Given the description of an element on the screen output the (x, y) to click on. 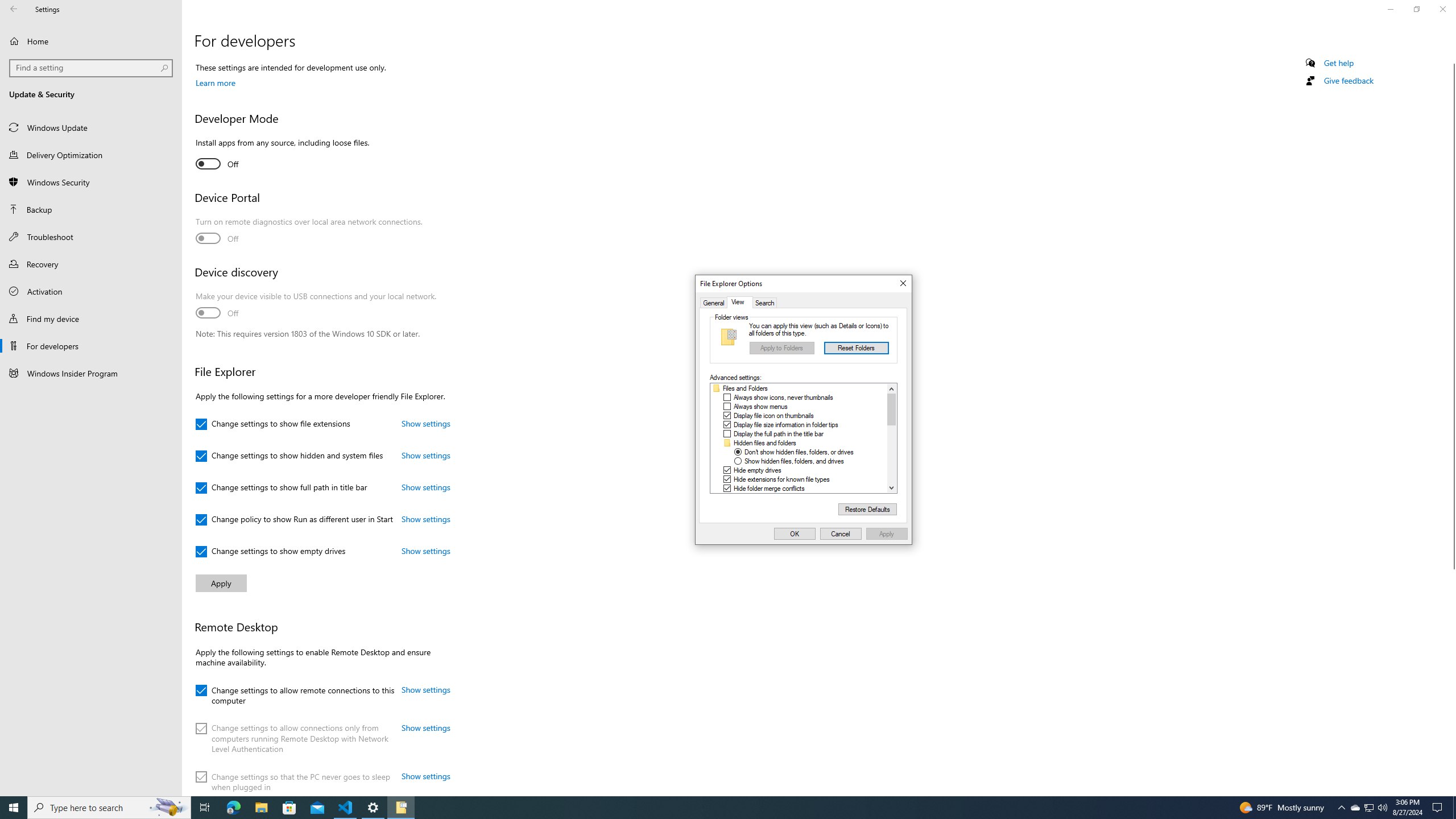
Hide extensions for known file types (781, 479)
Display file icon on thumbnails (773, 415)
Hide empty drives (757, 470)
Files and Folders (745, 388)
Settings - 1 running window (373, 807)
Hide folder merge conflicts (769, 488)
General (714, 302)
Search (764, 302)
Vertical (891, 438)
Reset Folders (856, 347)
